Given the description of an element on the screen output the (x, y) to click on. 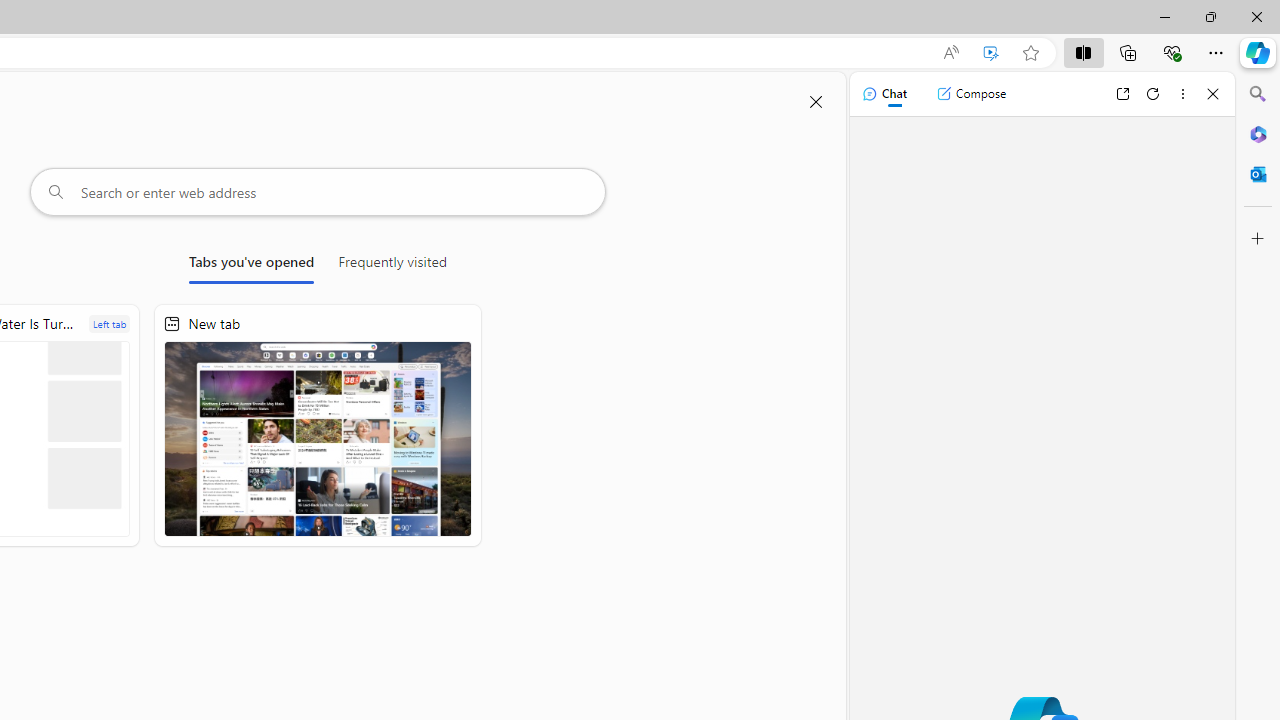
Chat (884, 93)
Close split screen (815, 102)
Frequently visited (392, 265)
Compose (971, 93)
Customize (1258, 239)
Outlook (1258, 174)
